Given the description of an element on the screen output the (x, y) to click on. 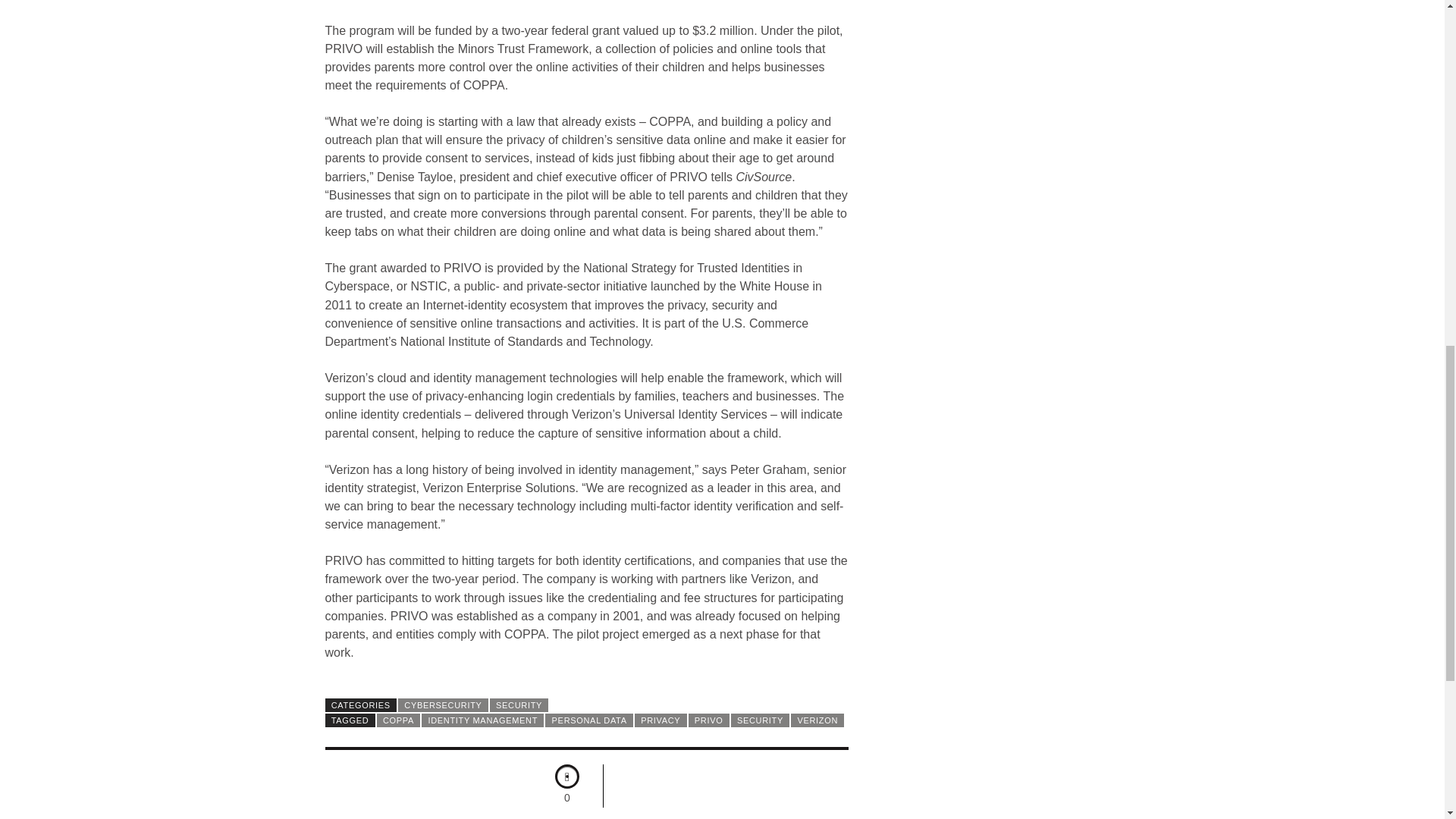
View all posts tagged personal data (588, 720)
View all posts in CyberSecurity (442, 704)
View all posts in Security (518, 704)
View all posts tagged coppa (398, 720)
View all posts tagged privacy (660, 720)
View all posts tagged privo (708, 720)
View all posts tagged Security (760, 720)
View all posts tagged identity management (482, 720)
View all posts tagged Verizon (817, 720)
